Given the description of an element on the screen output the (x, y) to click on. 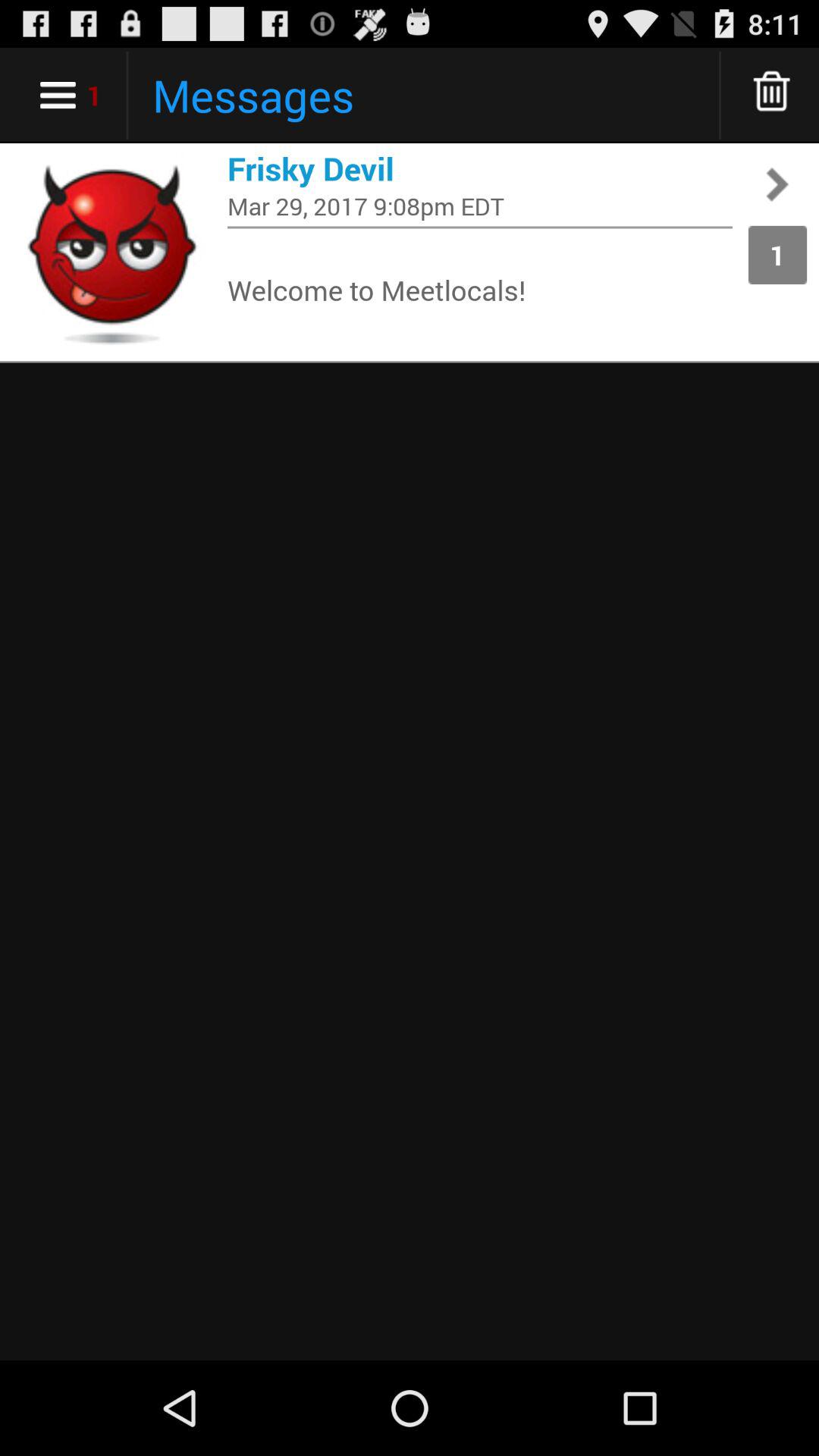
more (772, 95)
